Given the description of an element on the screen output the (x, y) to click on. 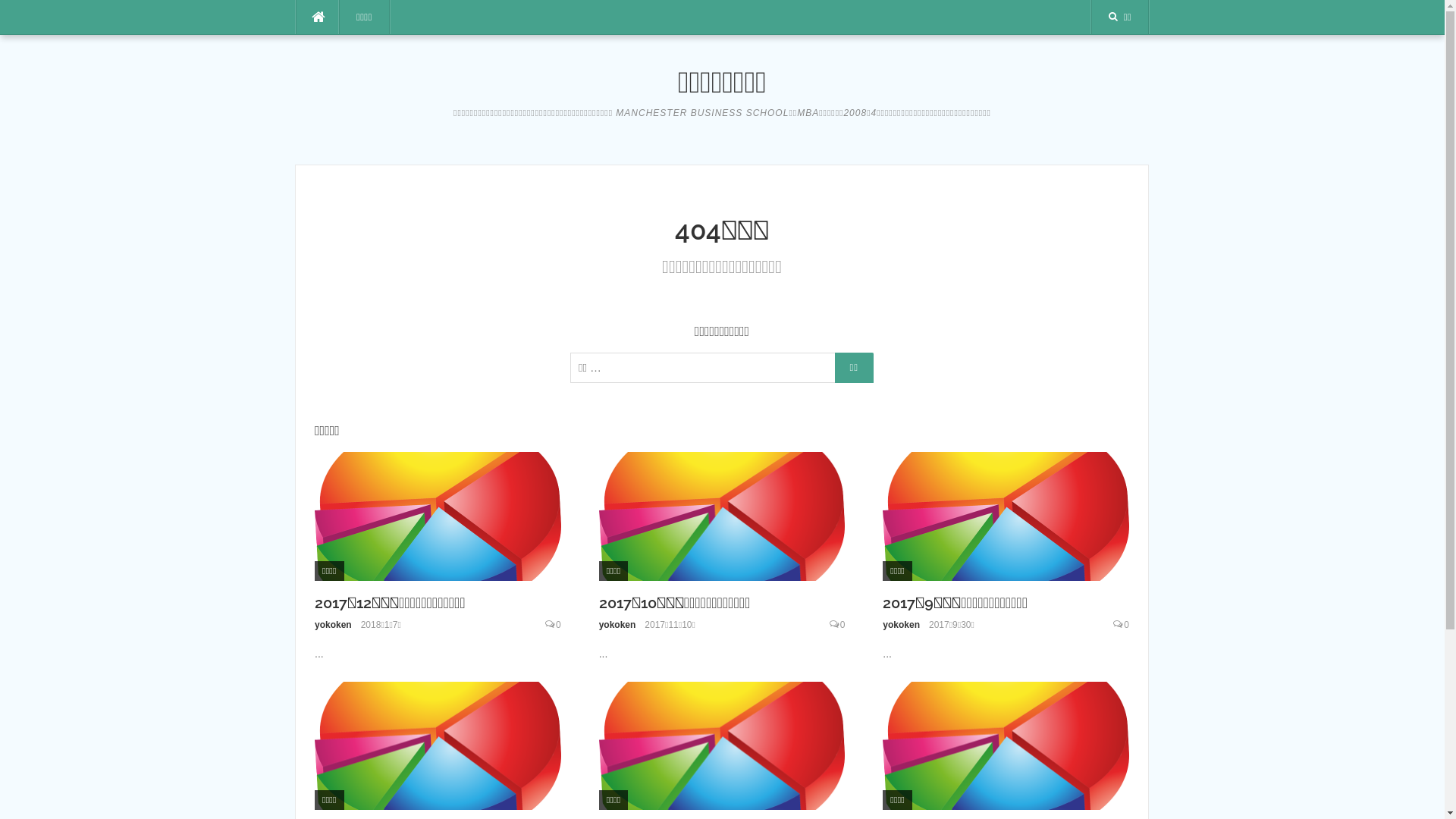
yokoken Element type: text (900, 624)
0 Element type: text (558, 624)
0 Element type: text (842, 624)
yokoken Element type: text (617, 624)
yokoken Element type: text (332, 624)
0 Element type: text (1126, 624)
